Given the description of an element on the screen output the (x, y) to click on. 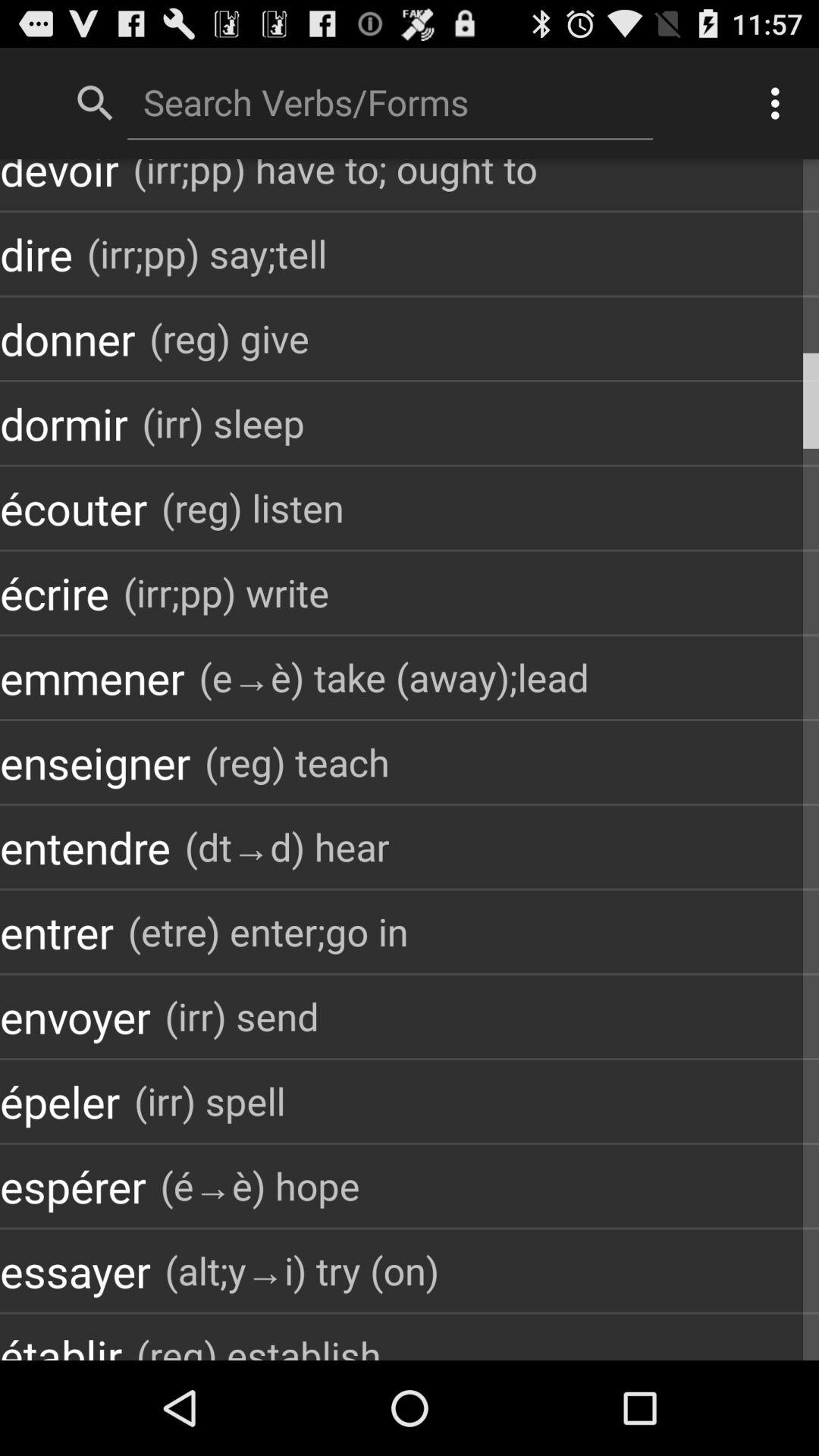
tap item below the entendre icon (267, 931)
